Given the description of an element on the screen output the (x, y) to click on. 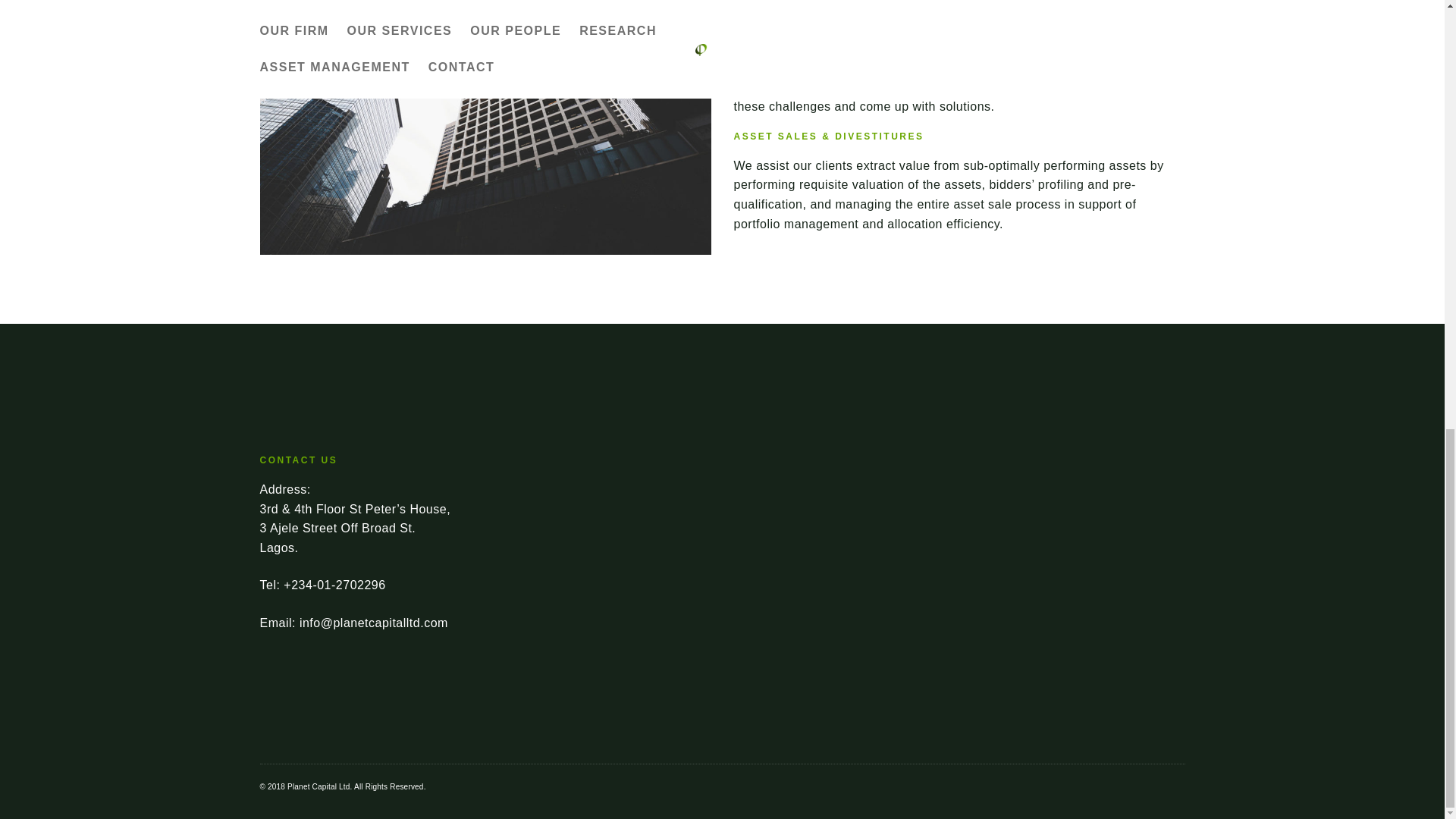
CONTACT US (298, 460)
